Given the description of an element on the screen output the (x, y) to click on. 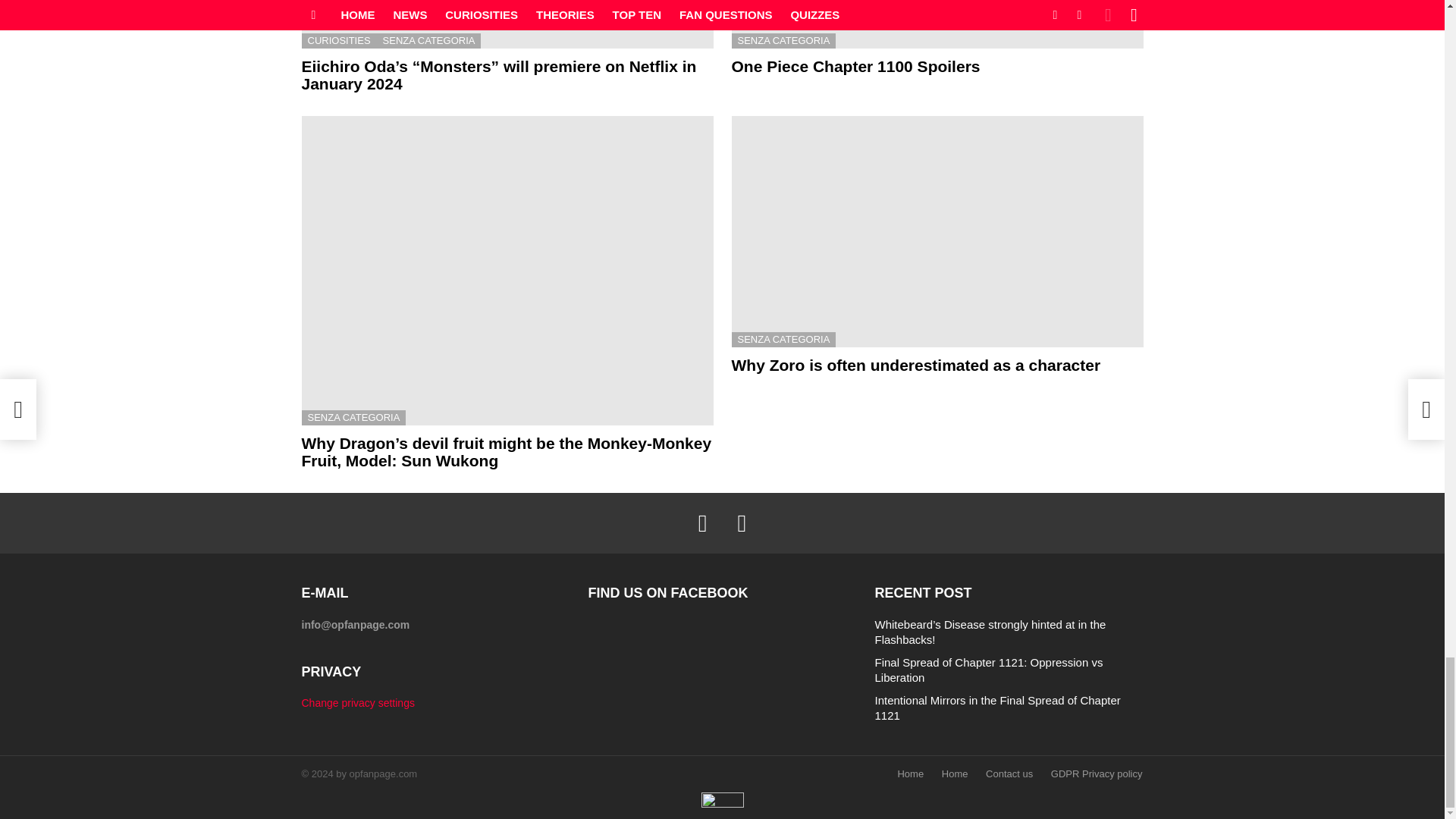
Why Zoro is often underestimated as a character (936, 231)
One Piece Chapter 1100 Spoilers (936, 24)
